Given the description of an element on the screen output the (x, y) to click on. 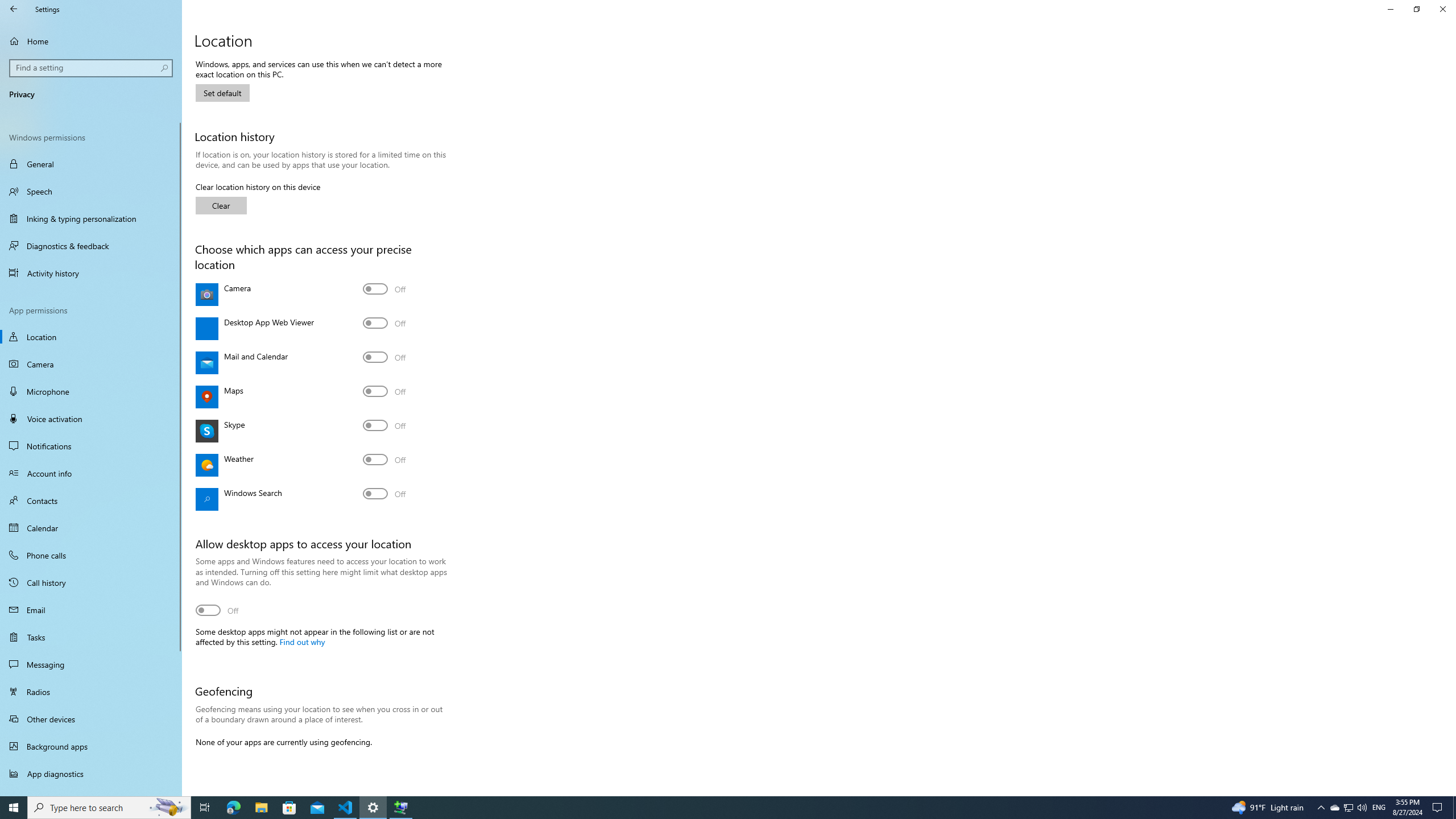
Location (91, 336)
Allow desktop apps to access your location (216, 610)
Camera (384, 289)
Diagnostics & feedback (91, 245)
Search box, Find a setting (91, 67)
Back (13, 9)
Speech (91, 190)
Email (91, 609)
Clear (221, 205)
